Given the description of an element on the screen output the (x, y) to click on. 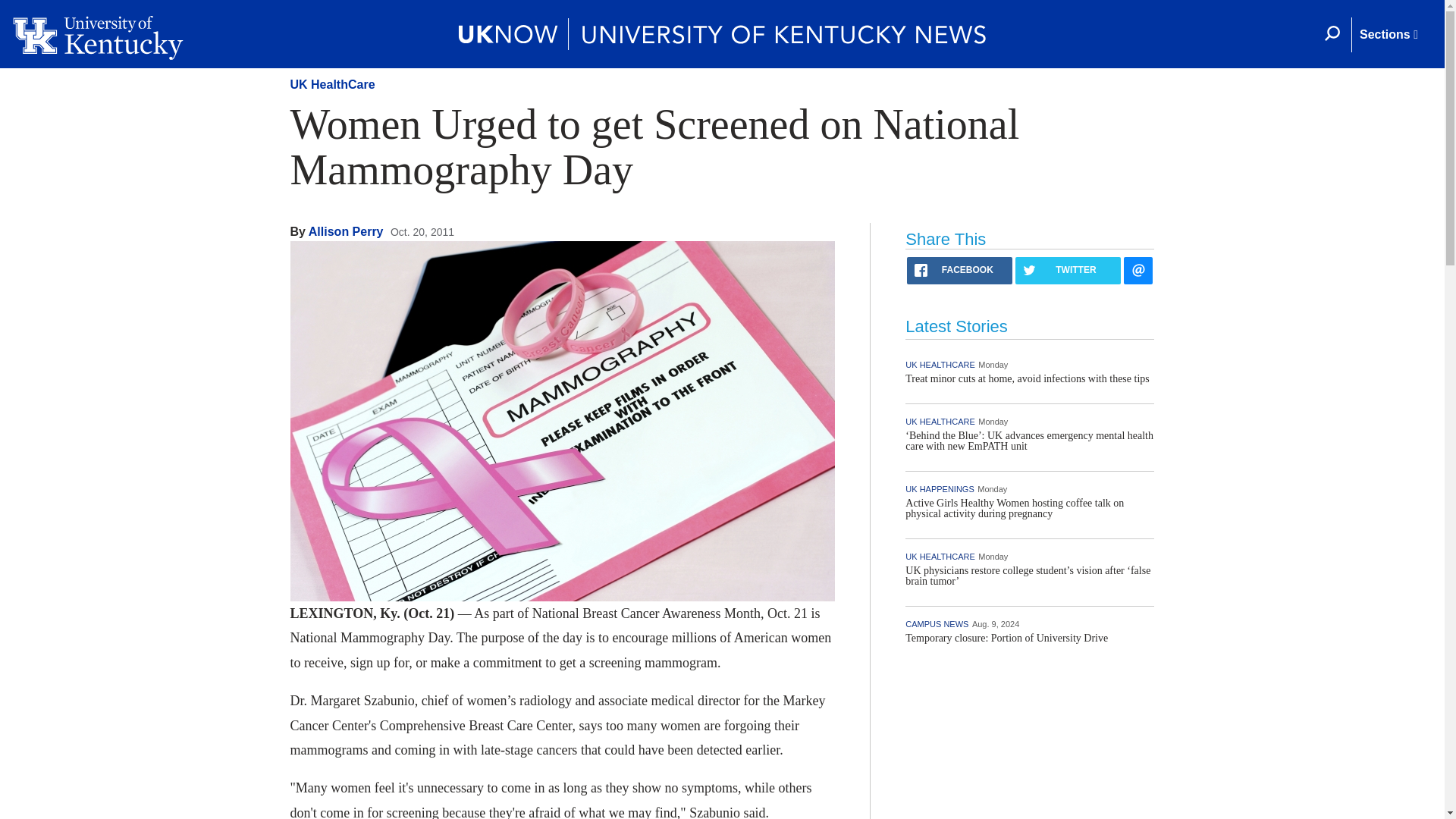
Sections (1388, 34)
UK HealthCare (331, 83)
Temporary closure: Portion of University Drive (1006, 637)
Treat minor cuts at home, avoid infections with these tips (1026, 378)
Allison Perry (346, 231)
Section navigation menu (1388, 34)
TWITTER (1067, 270)
FACEBOOK (959, 270)
